Given the description of an element on the screen output the (x, y) to click on. 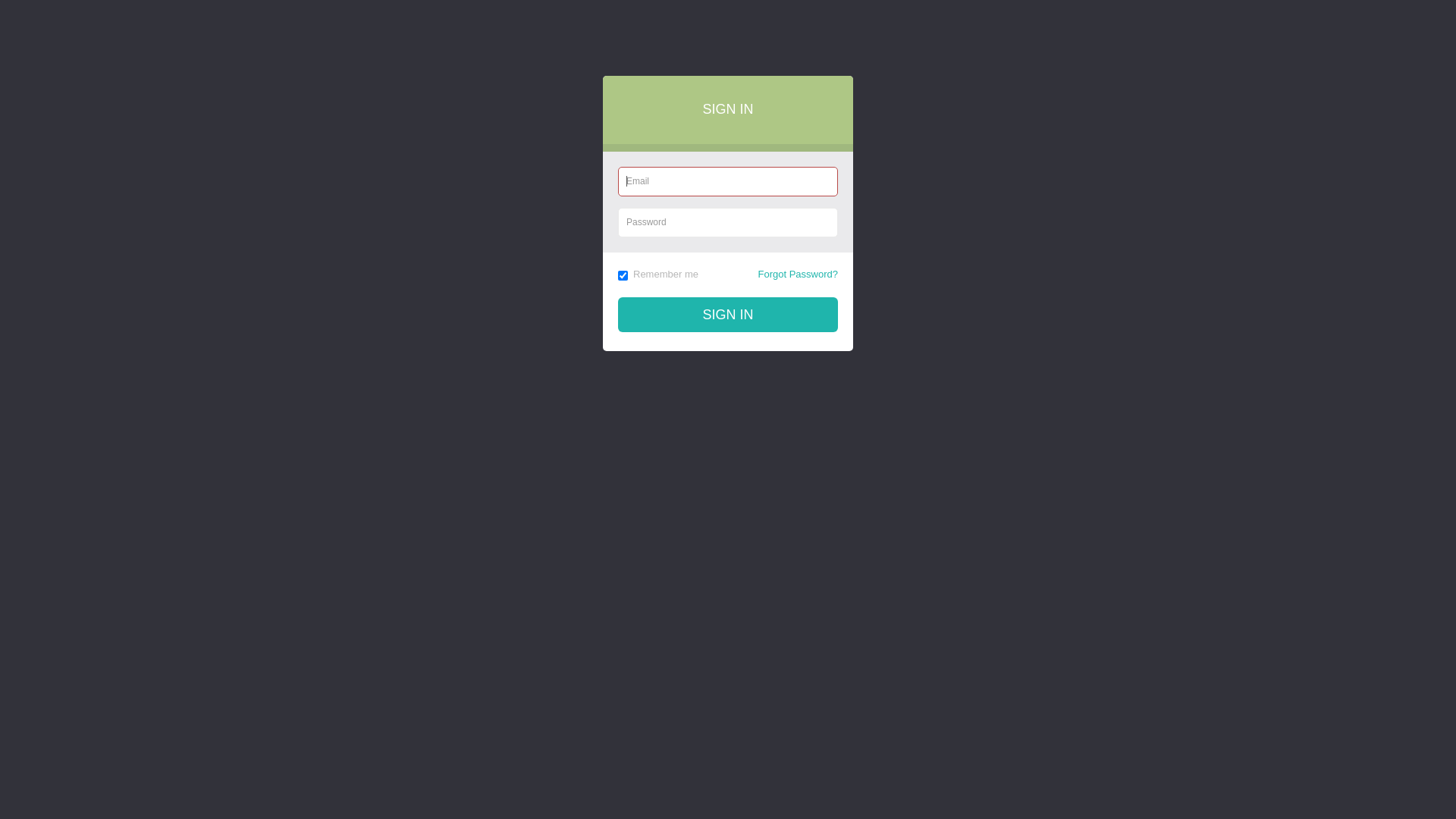
Forgot Password? Element type: text (798, 273)
SIGN IN Element type: text (727, 314)
